Given the description of an element on the screen output the (x, y) to click on. 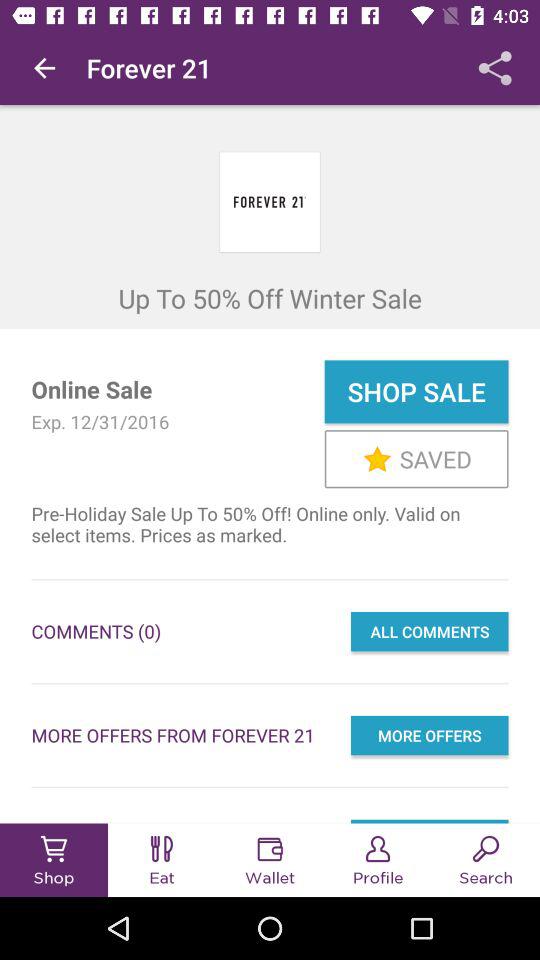
launch the app to the left of forever 21 item (44, 68)
